Given the description of an element on the screen output the (x, y) to click on. 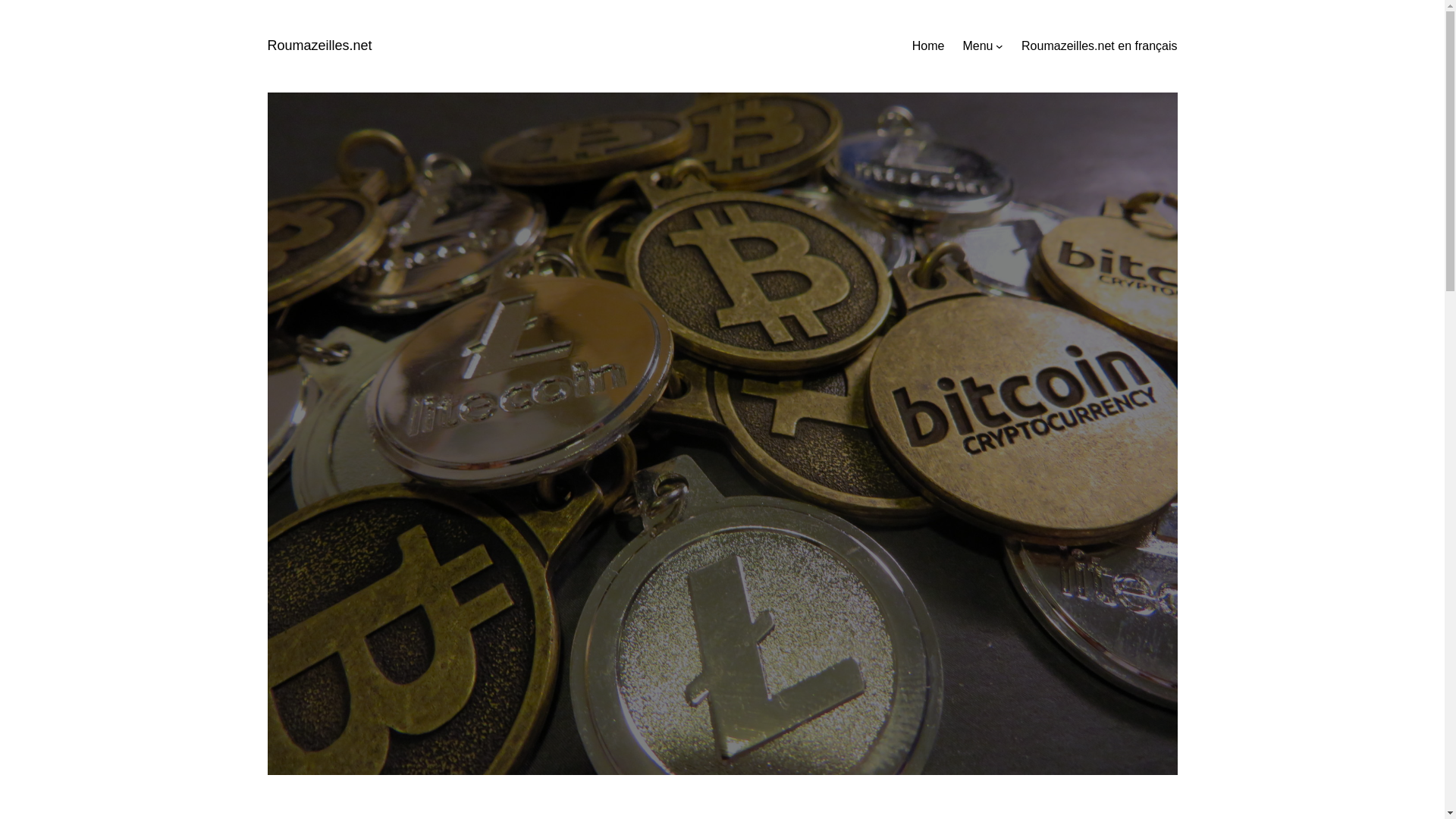
Home (928, 46)
Roumazeilles.net (318, 45)
Menu (977, 46)
